Given the description of an element on the screen output the (x, y) to click on. 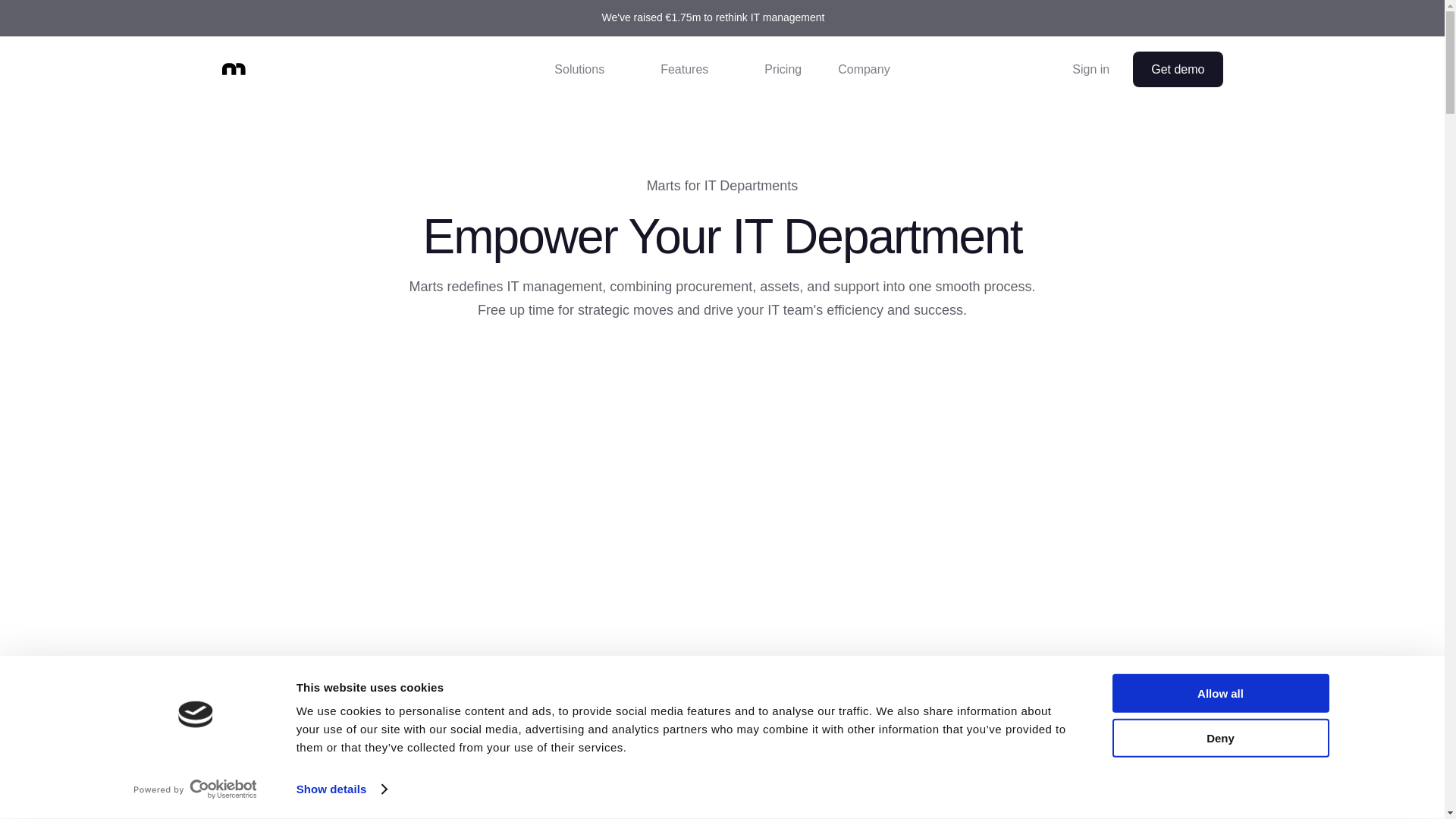
Show details (341, 789)
Solutions (588, 69)
Features (693, 69)
Allow all (1219, 693)
Deny (1219, 737)
Pricing (782, 69)
